Given the description of an element on the screen output the (x, y) to click on. 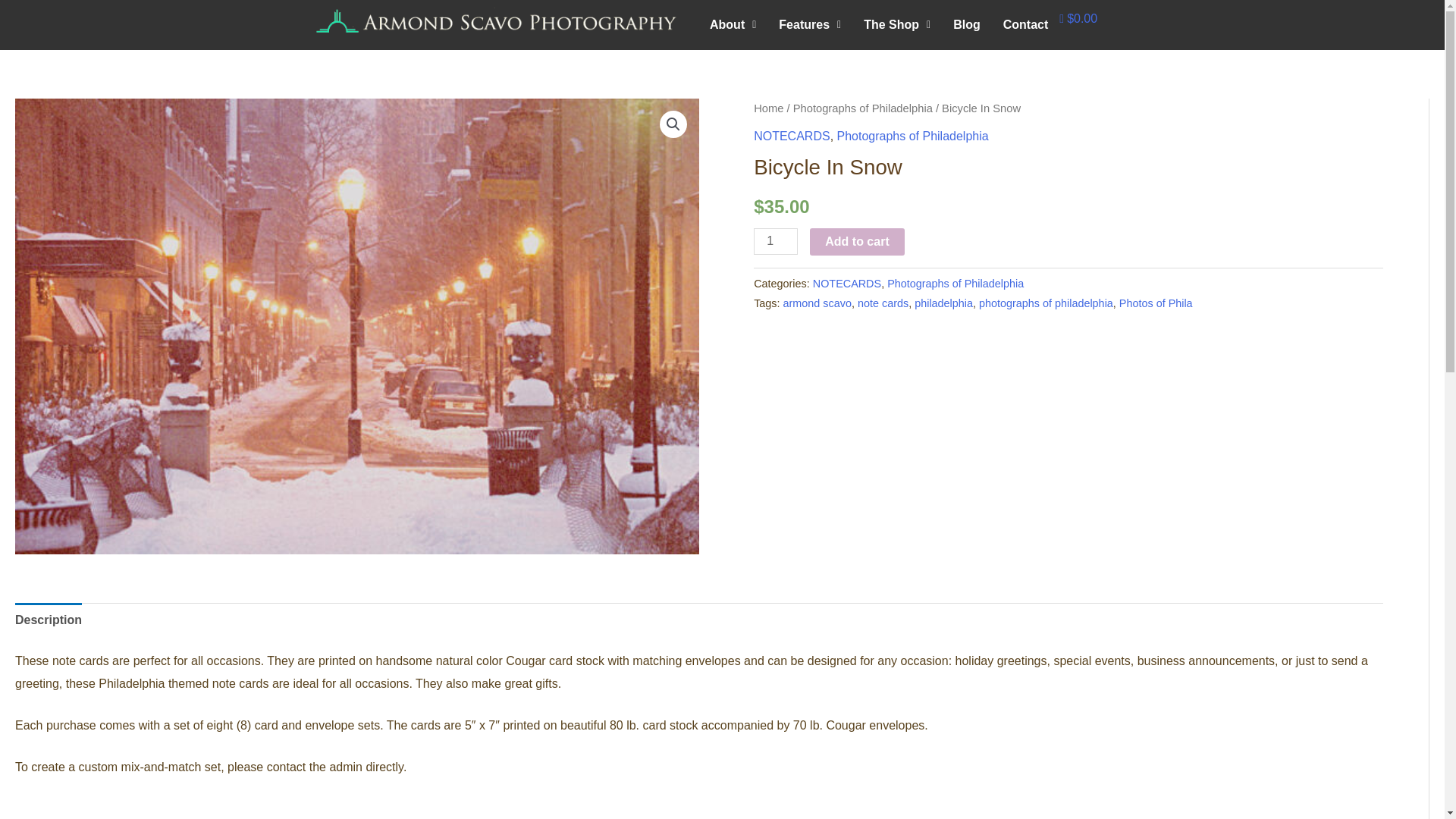
Start shopping (1078, 18)
About (732, 24)
The Shop (896, 24)
Features (809, 24)
Description (47, 620)
note cards (882, 303)
Add to cart (856, 241)
armond scavo (817, 303)
1 (775, 241)
